Given the description of an element on the screen output the (x, y) to click on. 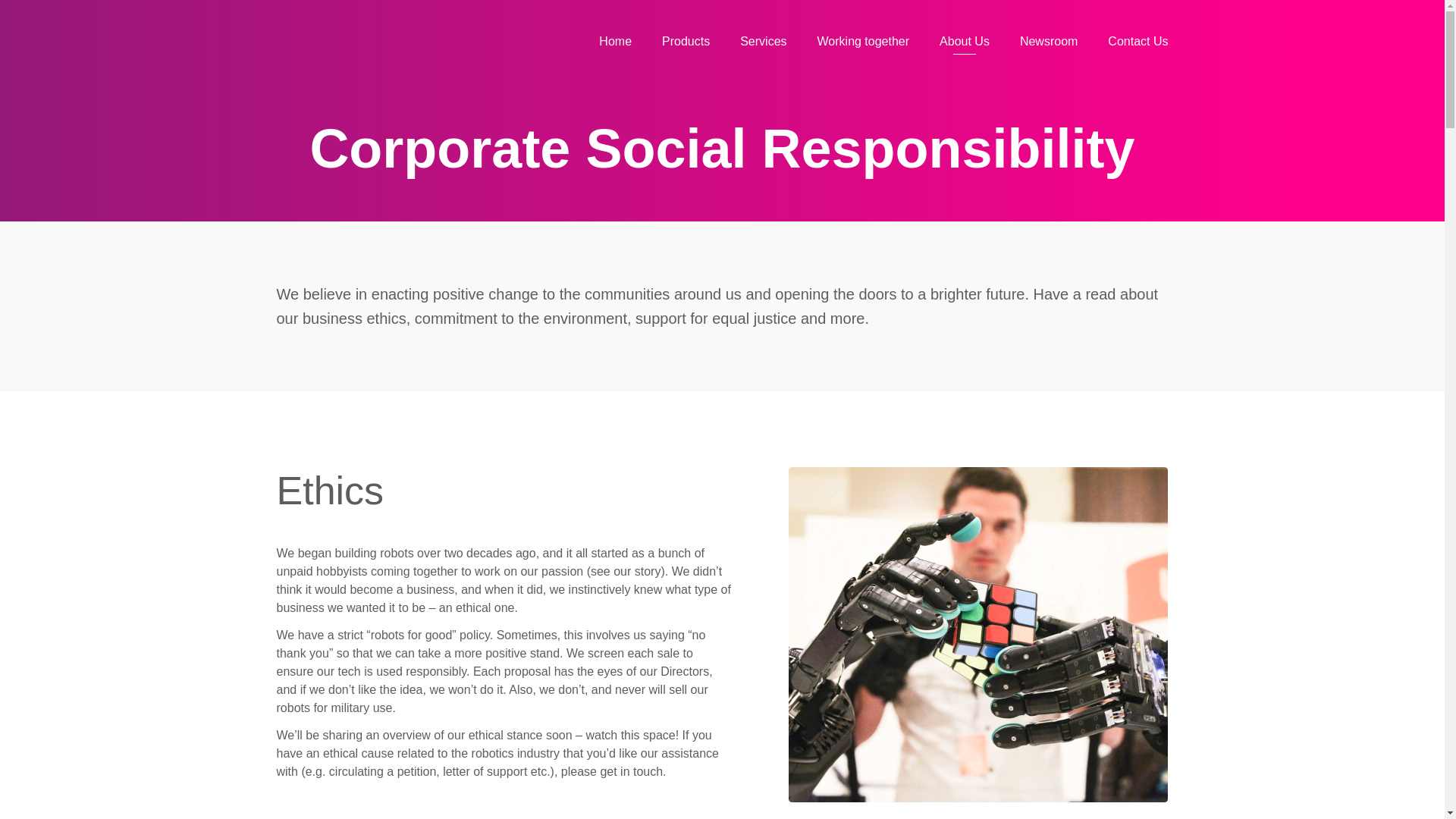
Working together (863, 41)
Home (614, 41)
Products (686, 41)
Newsroom (1048, 41)
Services (762, 41)
About Us (964, 41)
Contact Us (1137, 41)
